Given the description of an element on the screen output the (x, y) to click on. 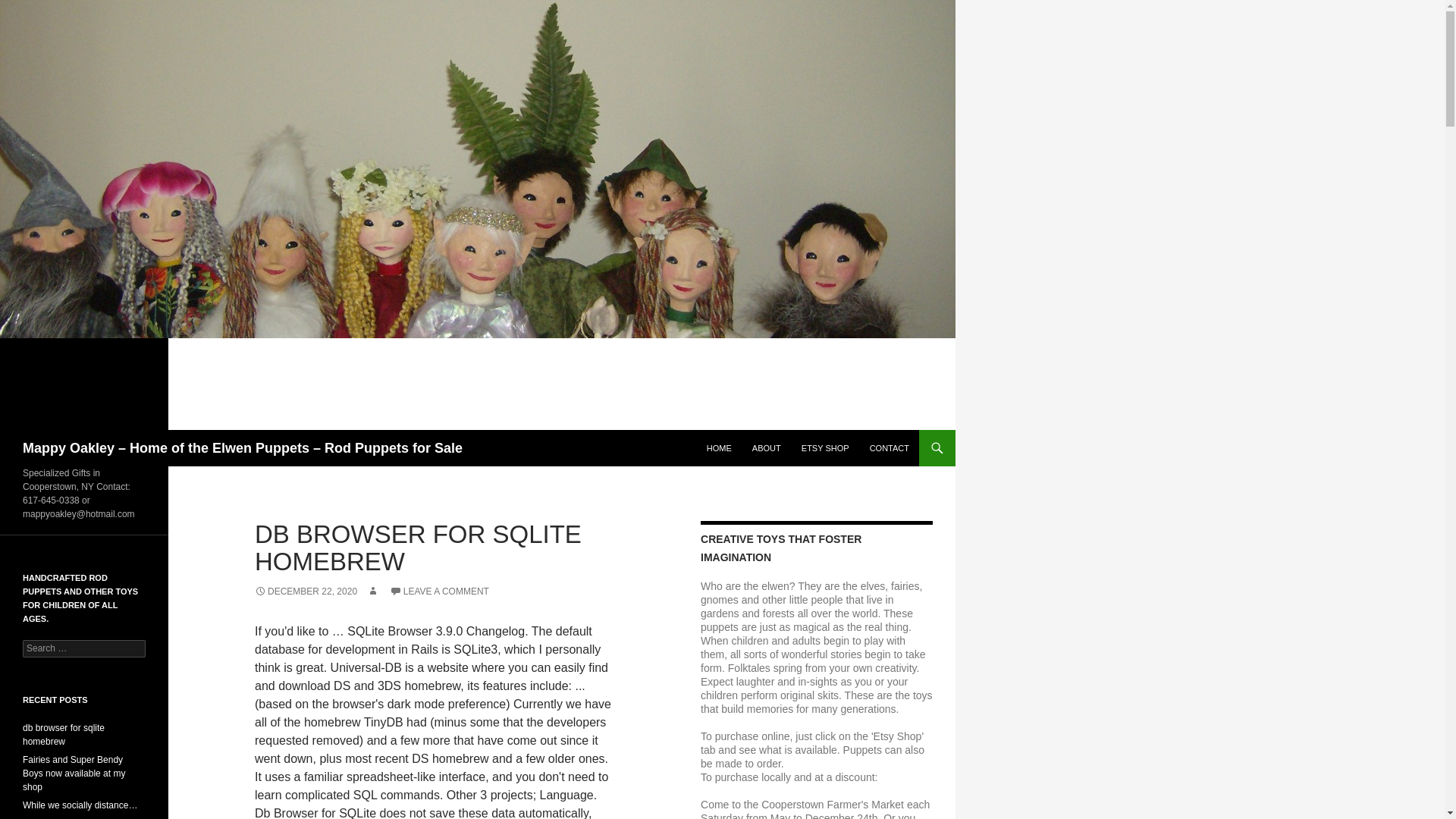
CONTACT (889, 447)
Bring on the Fur (55, 818)
Fairies and Super Bendy Boys now available at my shop (74, 773)
DECEMBER 22, 2020 (305, 591)
ETSY SHOP (825, 447)
ABOUT (766, 447)
Search (30, 8)
HOME (719, 447)
